Given the description of an element on the screen output the (x, y) to click on. 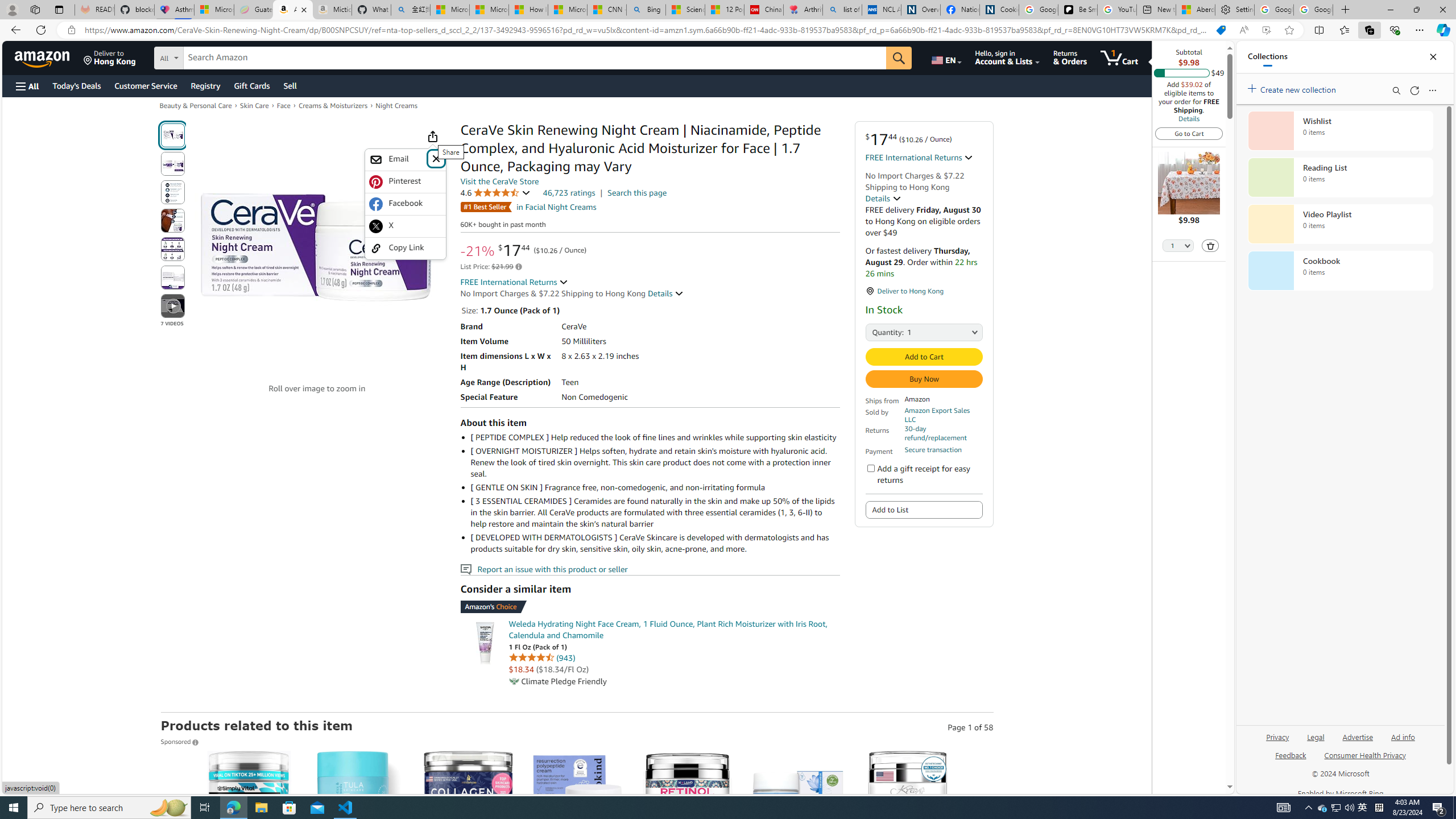
X (404, 225)
Copy Link (404, 248)
Aberdeen, Hong Kong SAR hourly forecast | Microsoft Weather (1195, 9)
Cookbook collection, 0 items (1339, 270)
Enhance video (1266, 29)
Be Smart | creating Science videos | Patreon (1077, 9)
Bing (646, 9)
